Given the description of an element on the screen output the (x, y) to click on. 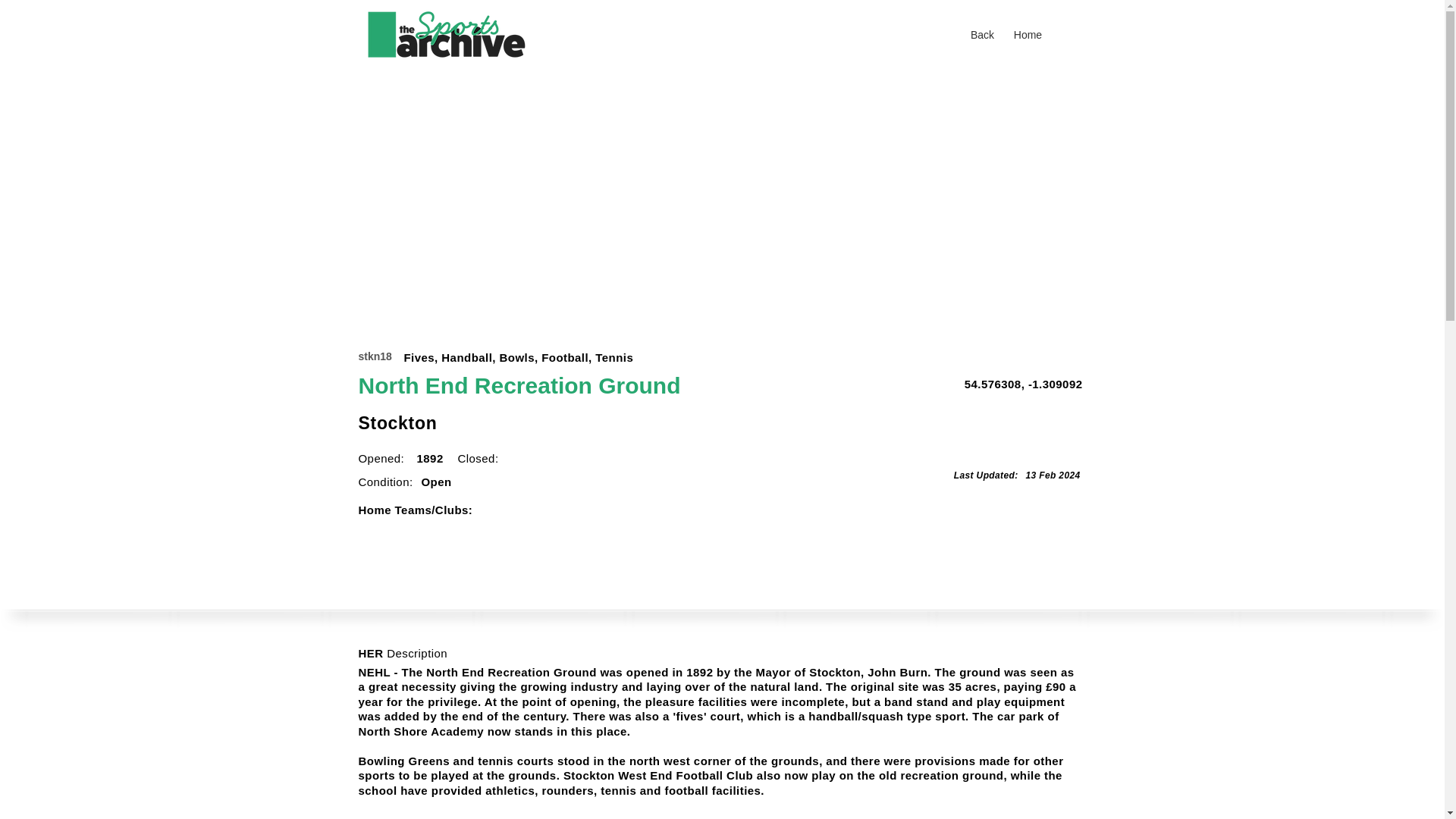
Home (1028, 34)
Back (982, 34)
